Given the description of an element on the screen output the (x, y) to click on. 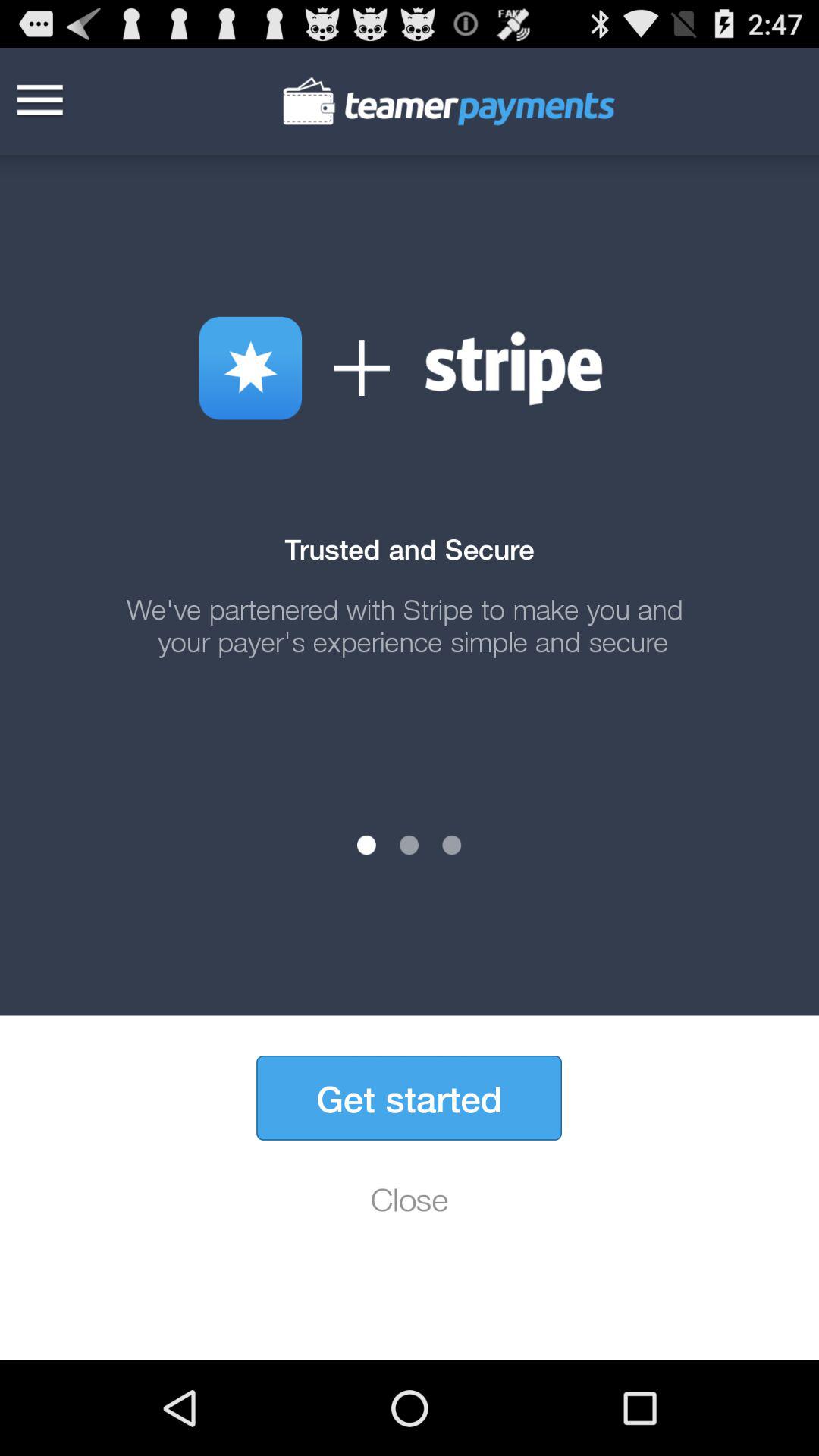
scroll to close item (409, 1199)
